Given the description of an element on the screen output the (x, y) to click on. 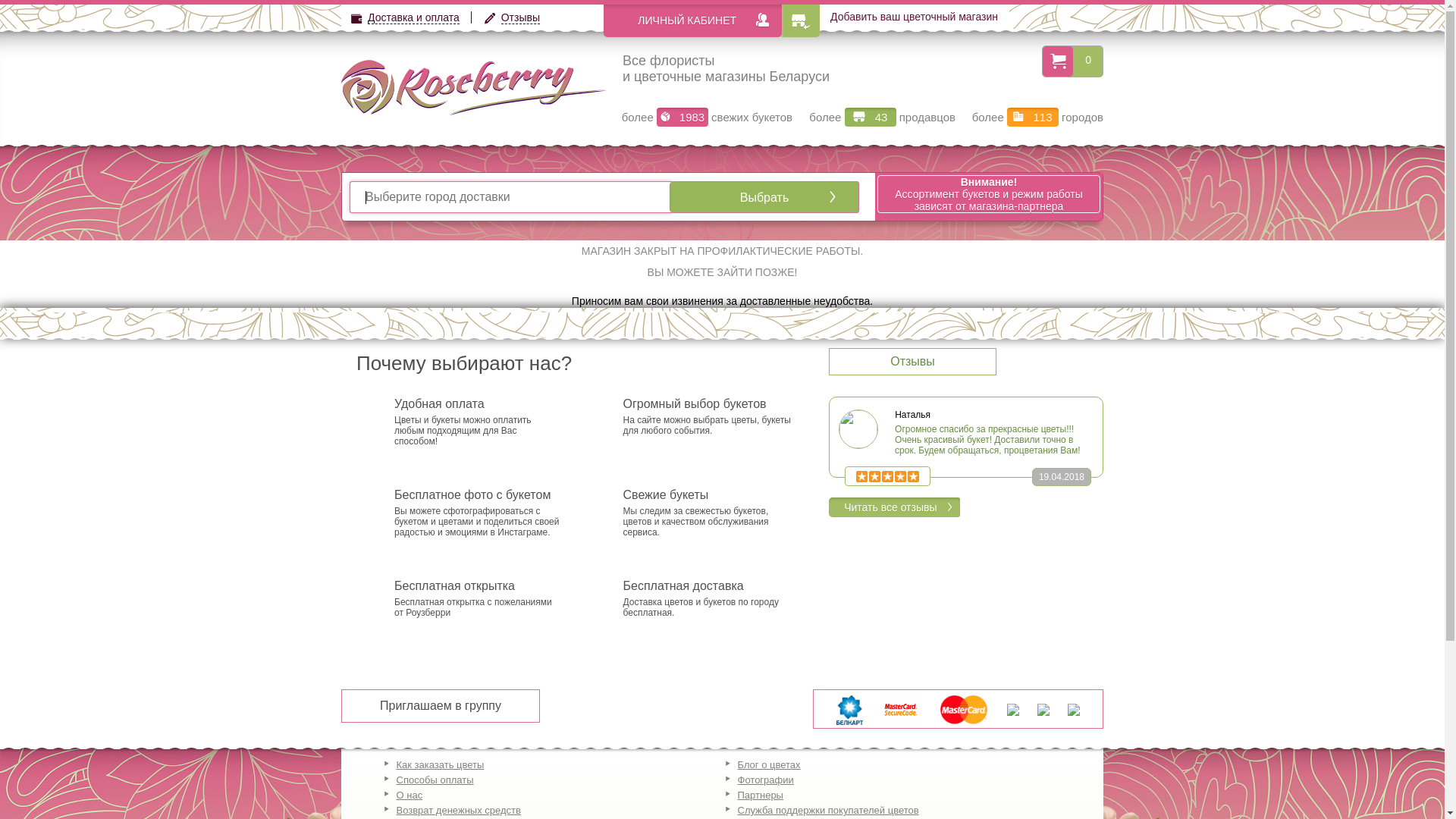
0 Element type: text (1087, 59)
